Given the description of an element on the screen output the (x, y) to click on. 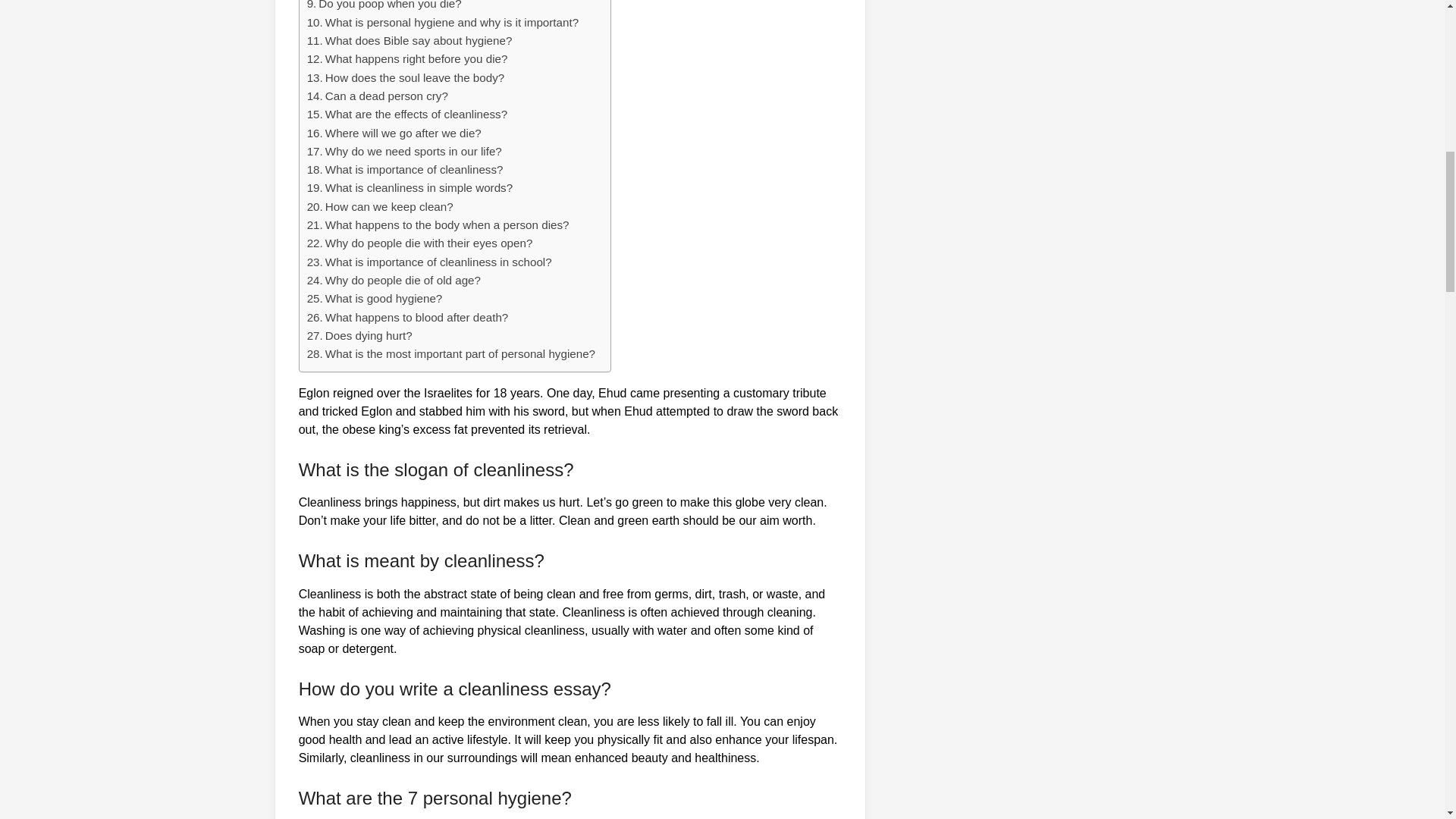
What is importance of cleanliness? (413, 169)
What is good hygiene? (383, 297)
What does Bible say about hygiene? (418, 40)
Can a dead person cry? (386, 95)
Where will we go after we die? (402, 132)
What happens to blood after death? (416, 317)
What are the effects of cleanliness? (415, 113)
What happens right before you die? (416, 58)
What is importance of cleanliness? (413, 169)
Why do people die with their eyes open? (428, 242)
